Given the description of an element on the screen output the (x, y) to click on. 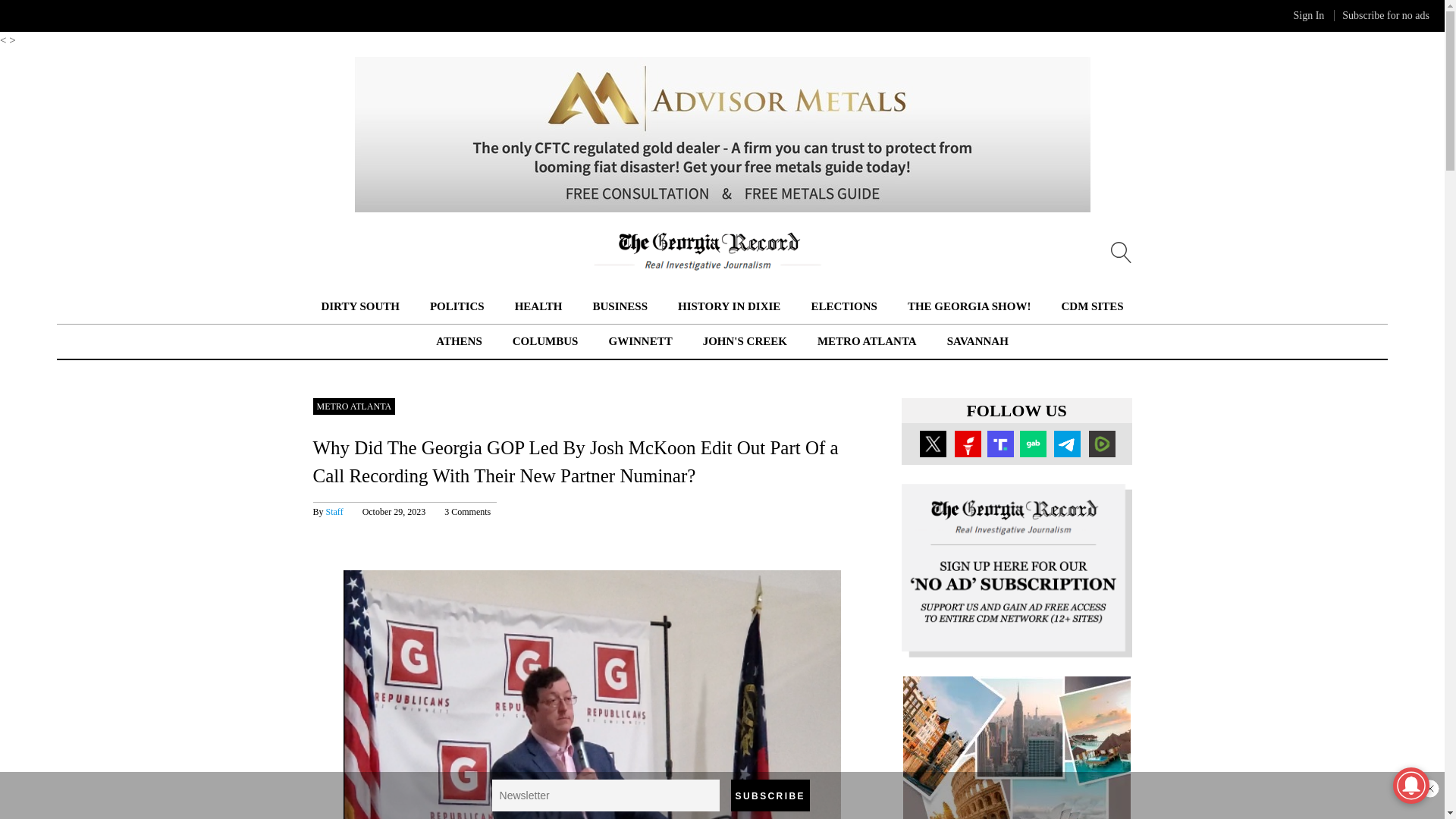
SUBSCRIBE (769, 795)
POLITICS (456, 306)
THE GEORGIA SHOW! (968, 306)
ATHENS (458, 341)
BUSINESS (619, 306)
Search (29, 12)
COLUMBUS (545, 341)
DIRTY SOUTH (359, 306)
HEALTH (538, 306)
CDM SITES (1091, 306)
HISTORY IN DIXIE (729, 306)
ELECTIONS (843, 306)
METRO ATLANTA (866, 341)
GWINNETT (639, 341)
JOHN'S CREEK (745, 341)
